Given the description of an element on the screen output the (x, y) to click on. 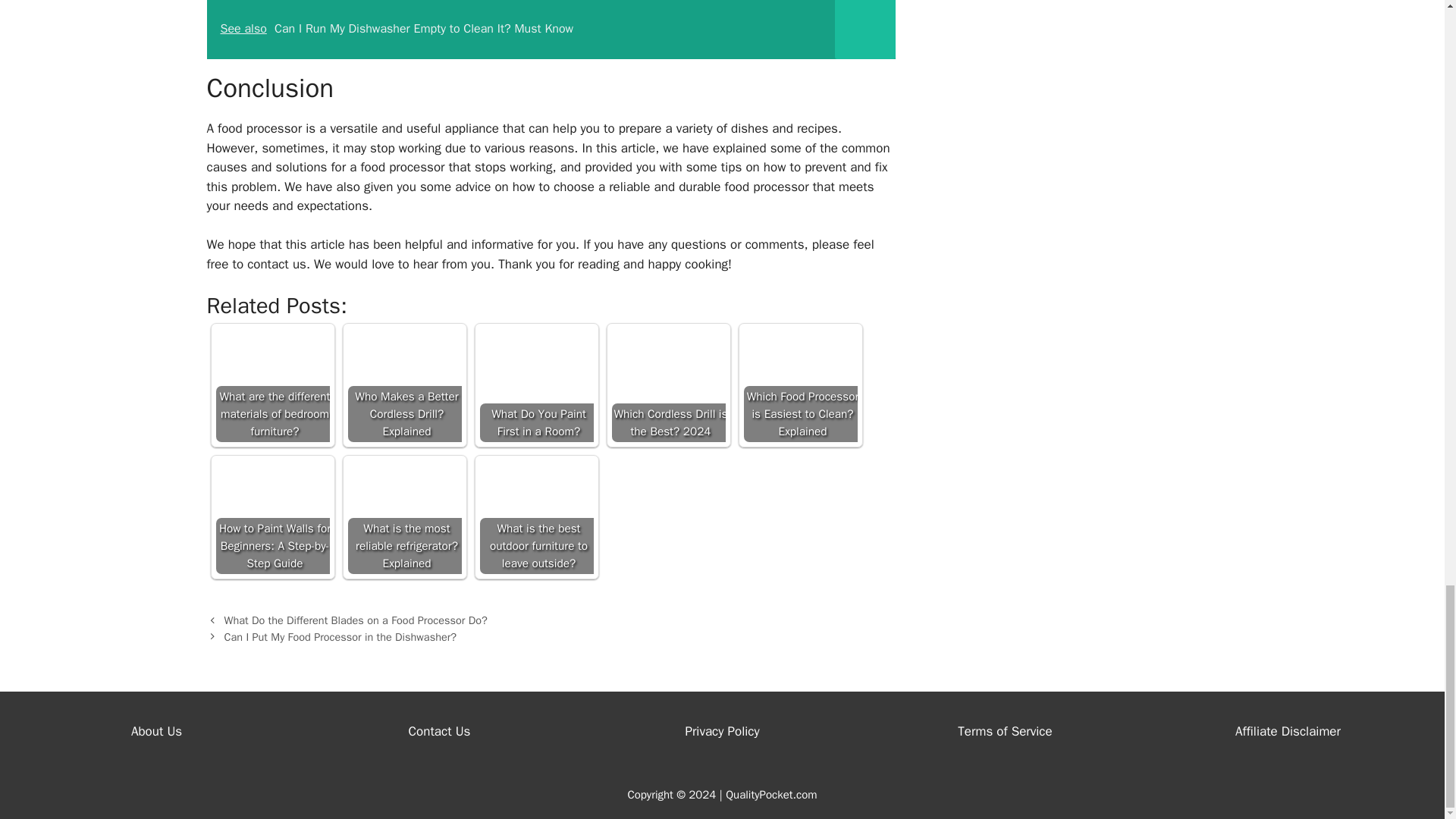
What Do You Paint First in a Room? (535, 385)
What are the different materials of bedroom furniture? (272, 385)
What is the best outdoor furniture to leave outside? (535, 517)
Which Cordless Drill is the Best? 2024 (668, 385)
Which Food Processor is Easiest to Clean? Explained (799, 385)
How to Paint Walls for Beginners: A Step-by-Step Guide (272, 517)
What is the most reliable refrigerator? Explained (404, 517)
Which Cordless Drill is the Best? 2024 (668, 385)
What is the best outdoor furniture to leave outside? (535, 517)
Who Makes a Better Cordless Drill? Explained (404, 385)
What are the different materials of bedroom furniture? (272, 385)
Who Makes a Better Cordless Drill? Explained (404, 385)
Which Food Processor is Easiest to Clean? Explained (799, 385)
Can I Put My Food Processor in the Dishwasher? (340, 636)
What Do You Paint First in a Room? (535, 385)
